Given the description of an element on the screen output the (x, y) to click on. 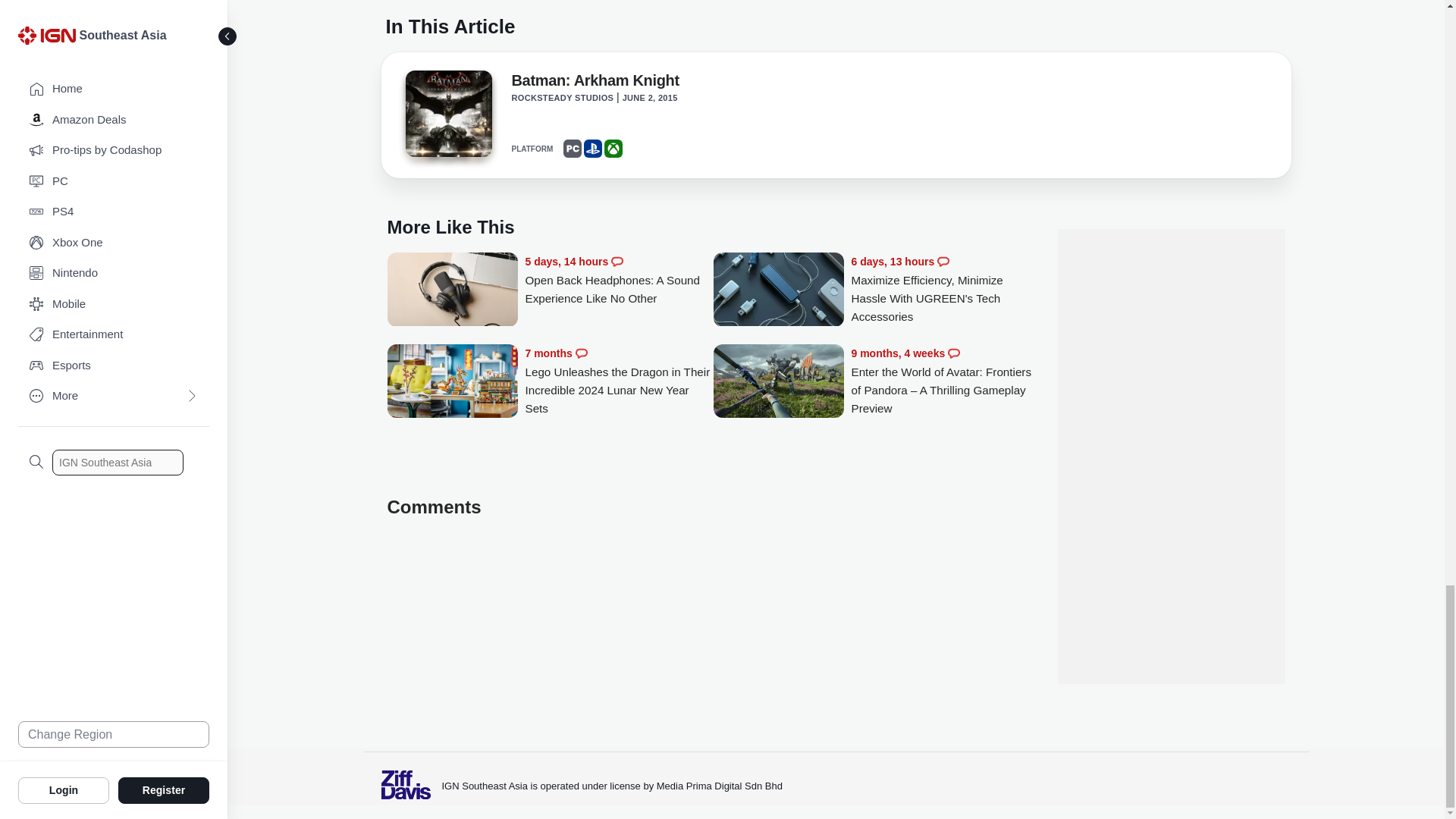
XBOXONE (613, 148)
Batman: Arkham Knight (448, 113)
Batman: Arkham Knight (448, 118)
Open Back Headphones: A Sound Experience Like No Other (618, 279)
PS4 (592, 148)
Batman: Arkham Knight (594, 83)
Open Back Headphones: A Sound Experience Like No Other (451, 290)
PC (571, 148)
